Given the description of an element on the screen output the (x, y) to click on. 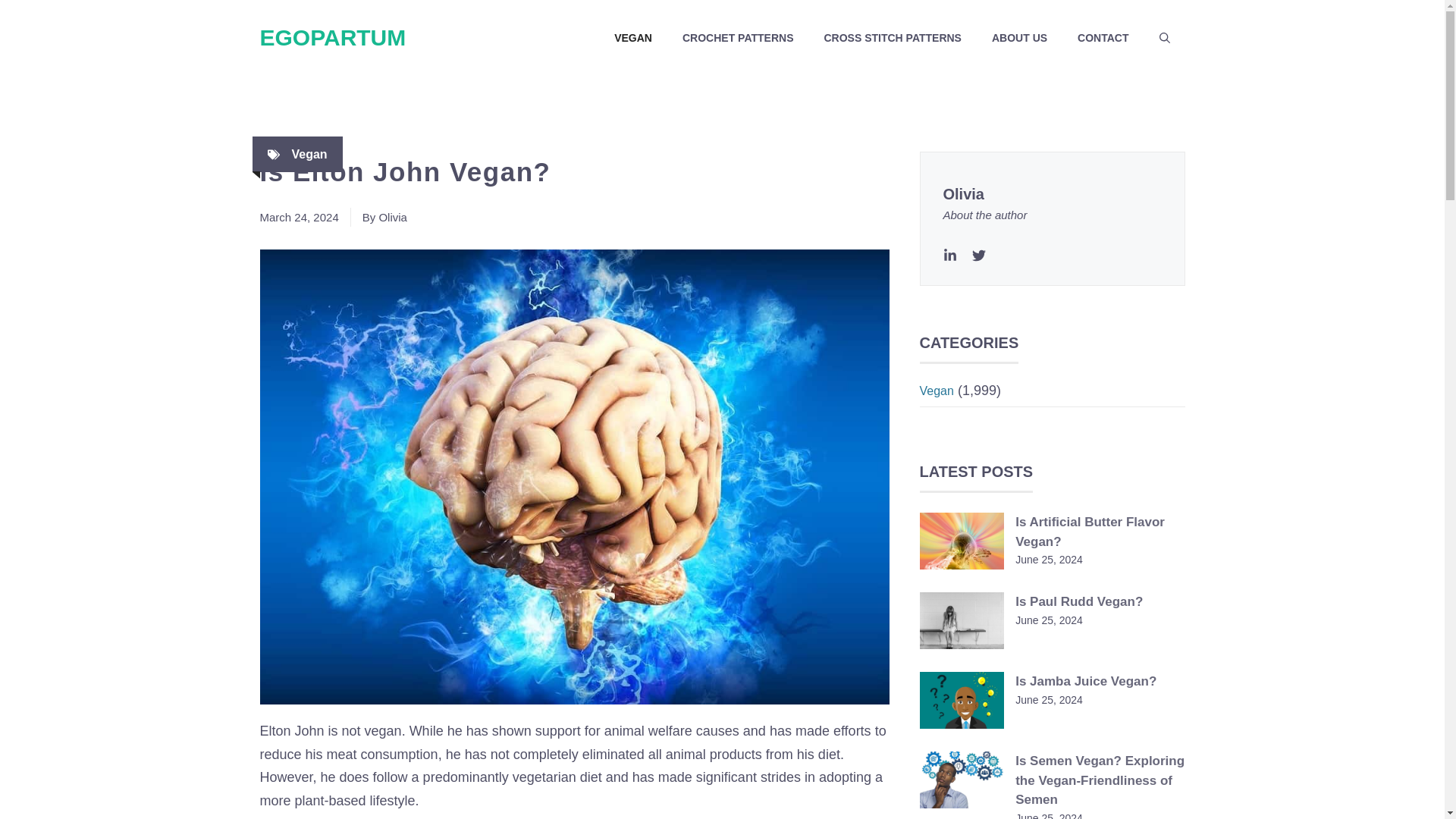
Vegan (308, 154)
ABOUT US (1019, 37)
CROCHET PATTERNS (737, 37)
Is Artificial Butter Flavor Vegan? (1089, 531)
CROSS STITCH PATTERNS (892, 37)
Vegan (935, 390)
VEGAN (632, 37)
Is Semen Vegan? Exploring the Vegan-Friendliness of Semen (1099, 779)
EGOPARTUM (332, 37)
Is Paul Rudd Vegan? (1078, 601)
CONTACT (1102, 37)
Is Jamba Juice Vegan? (1085, 681)
